Given the description of an element on the screen output the (x, y) to click on. 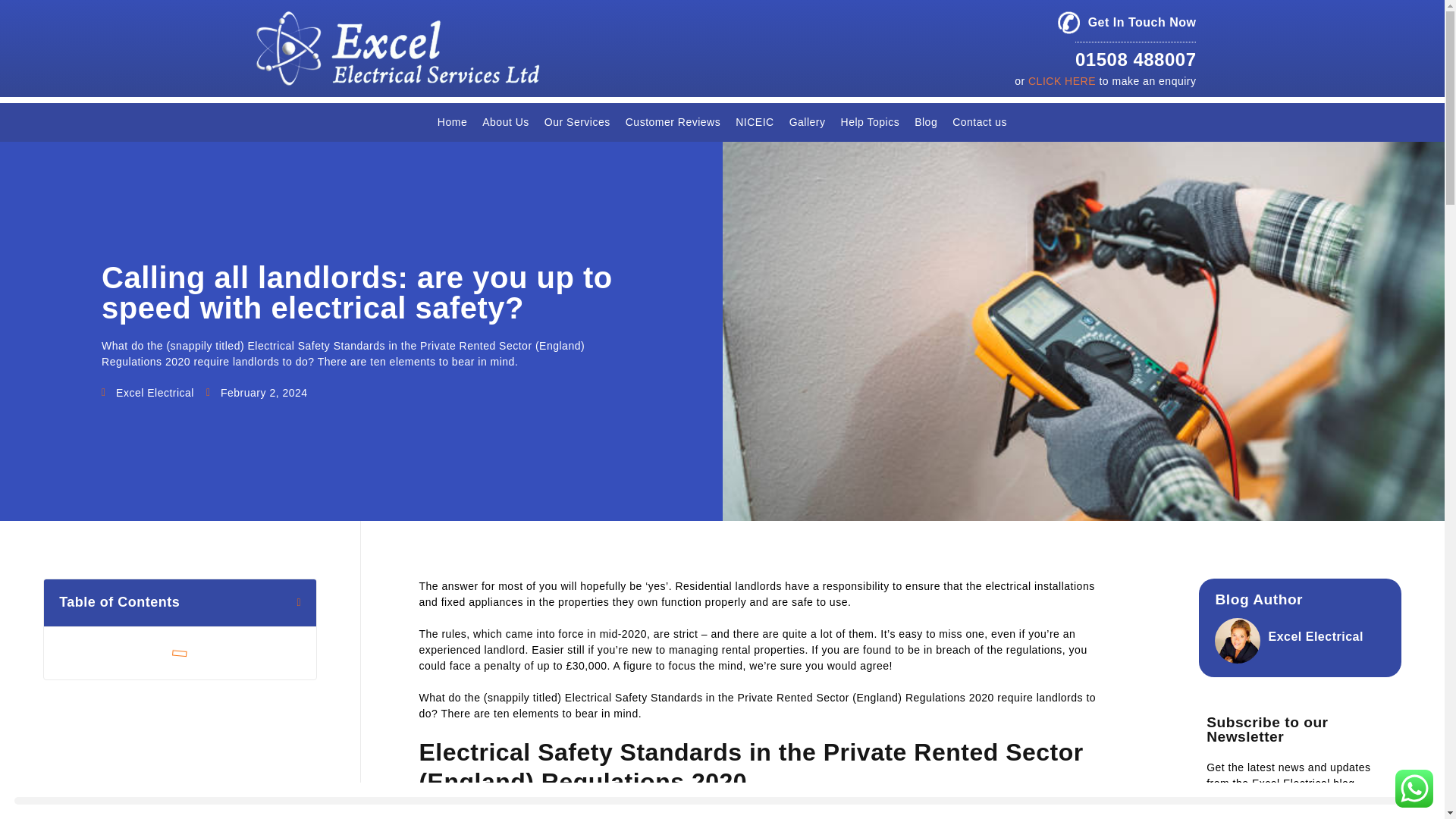
February 2, 2024 (256, 392)
CLICK HERE (1061, 80)
About Us (505, 122)
Customer Reviews (672, 122)
NICEIC (754, 122)
Contact us (979, 122)
Excel Electrical (147, 392)
Gallery (806, 122)
Blog (925, 122)
Get In Touch Now 01508 488007 (1127, 42)
Help Topics (869, 122)
Our Services (577, 122)
Home (451, 122)
